Given the description of an element on the screen output the (x, y) to click on. 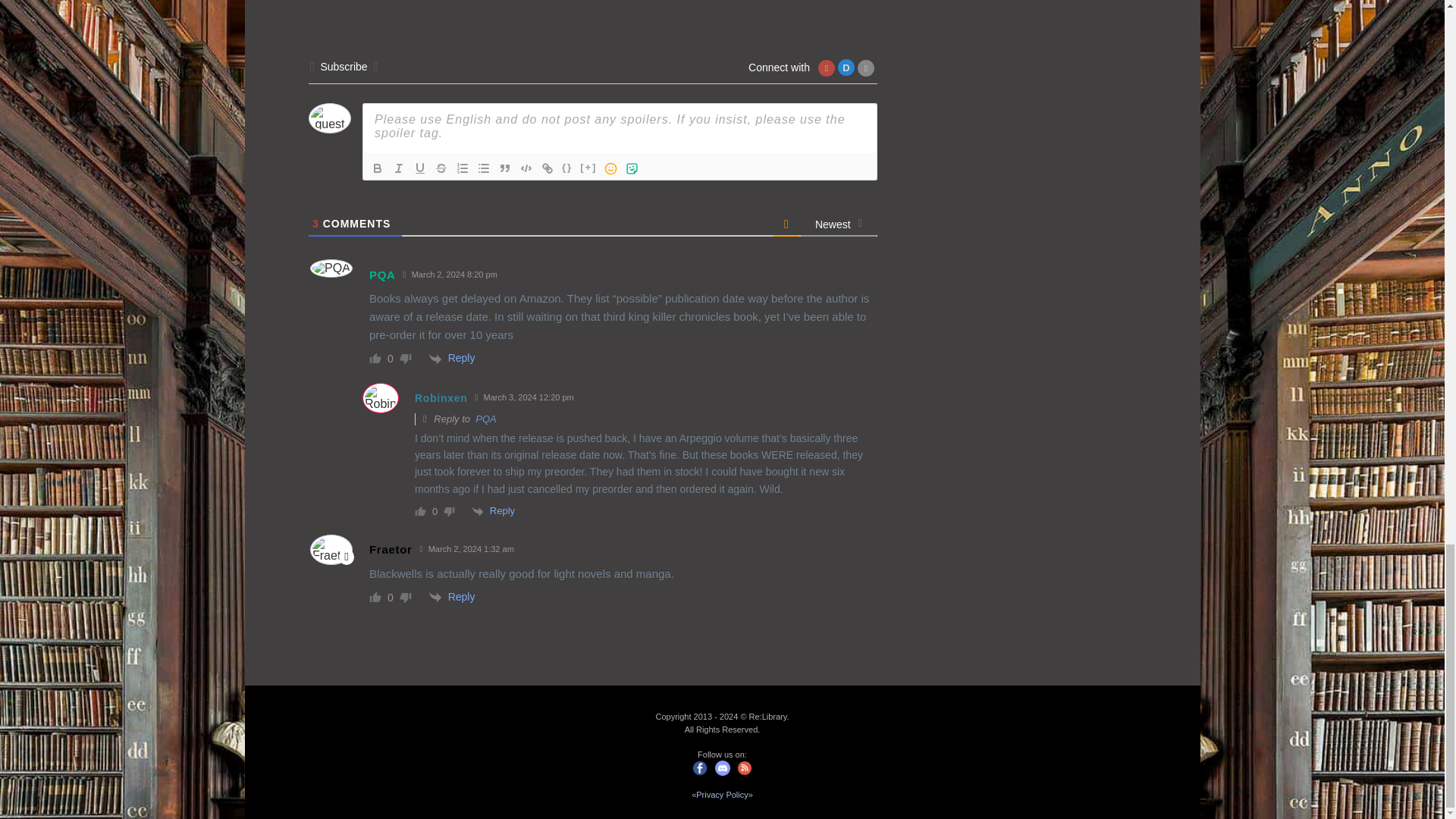
Underline (419, 167)
Italic (398, 167)
Bold (377, 167)
